Given the description of an element on the screen output the (x, y) to click on. 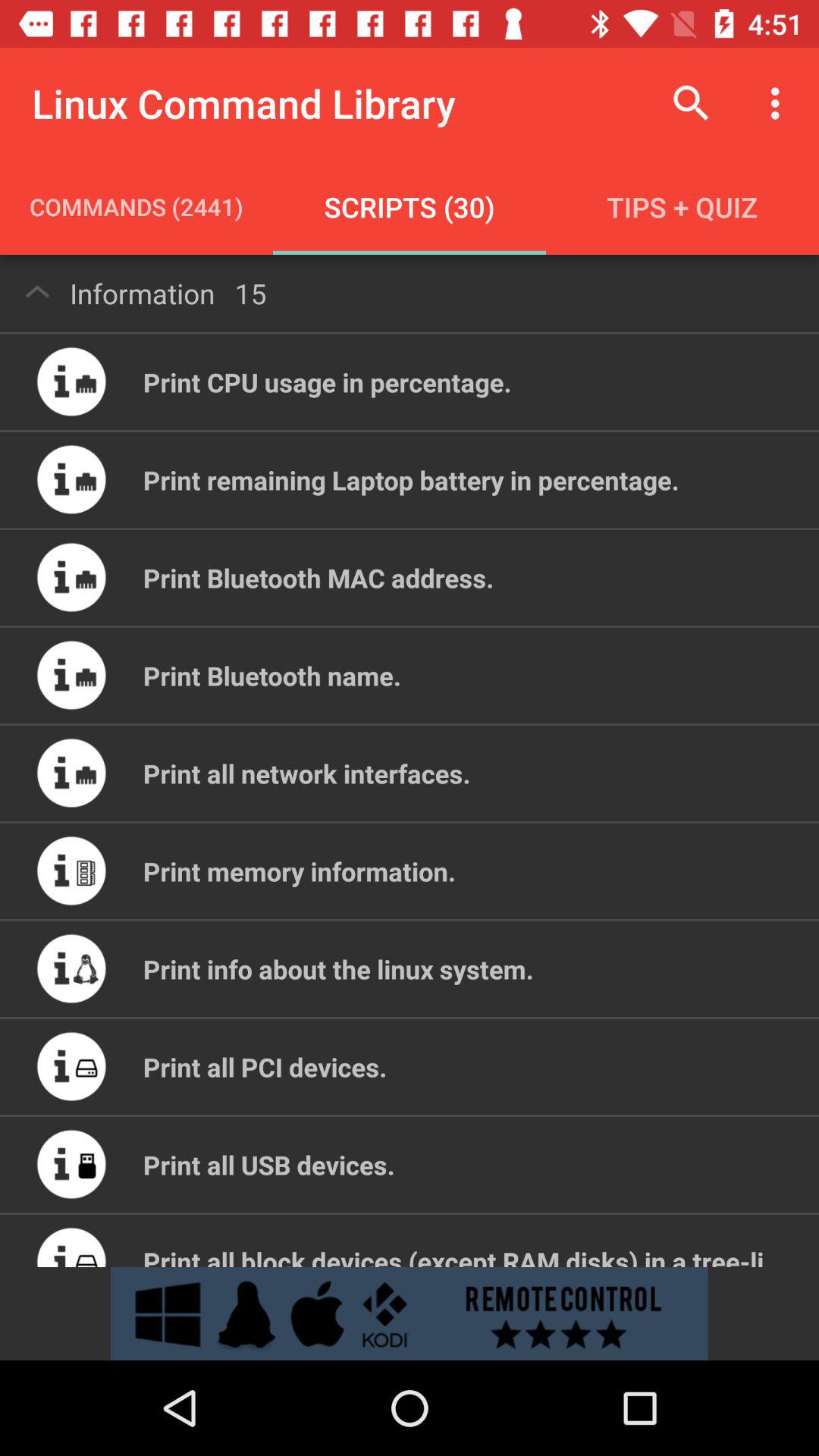
launch icon above the tips + quiz icon (691, 103)
